Given the description of an element on the screen output the (x, y) to click on. 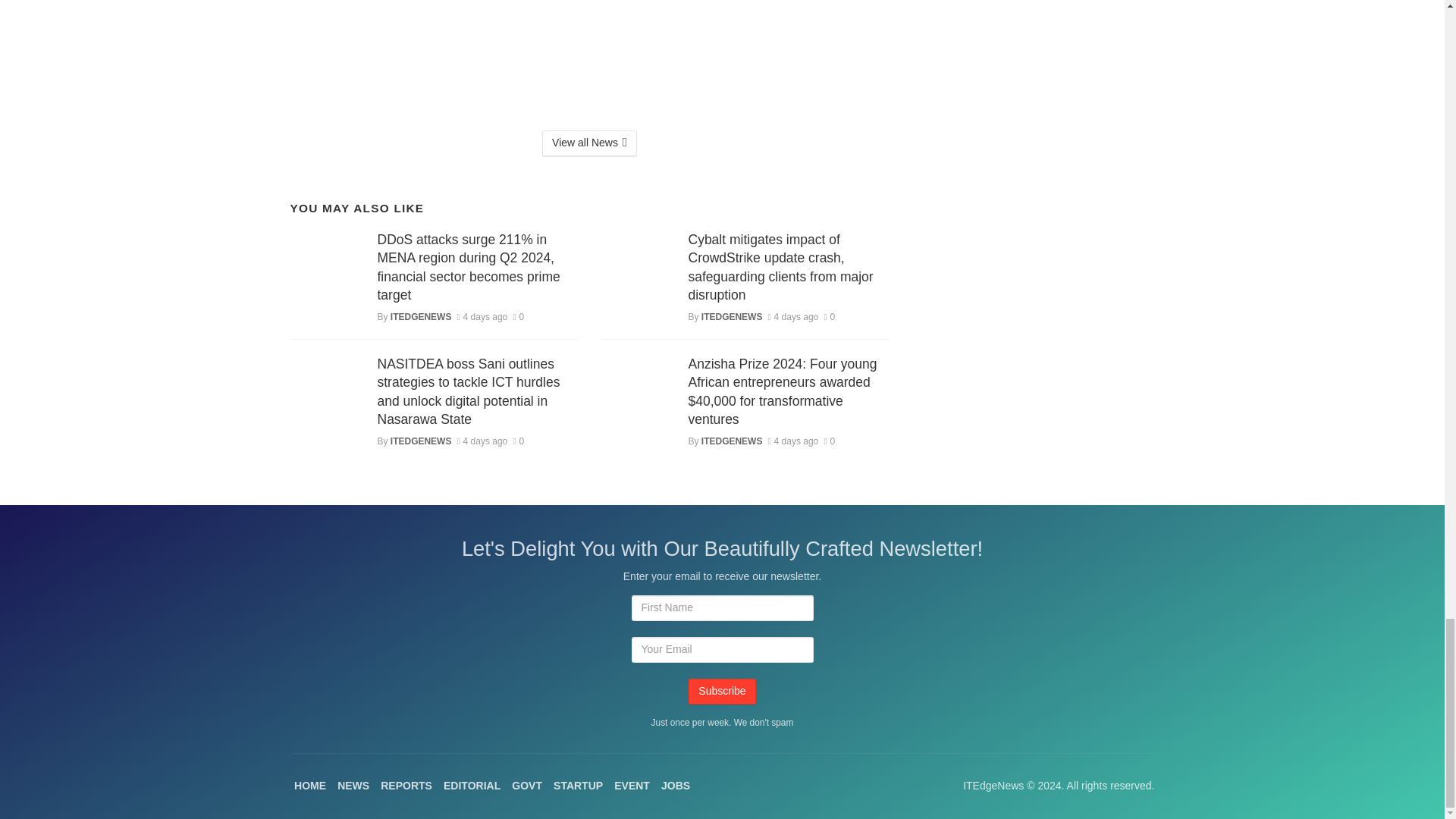
Subscribe (721, 691)
August 9, 2024 at 7:09 am (482, 317)
0 Comments (518, 317)
